Given the description of an element on the screen output the (x, y) to click on. 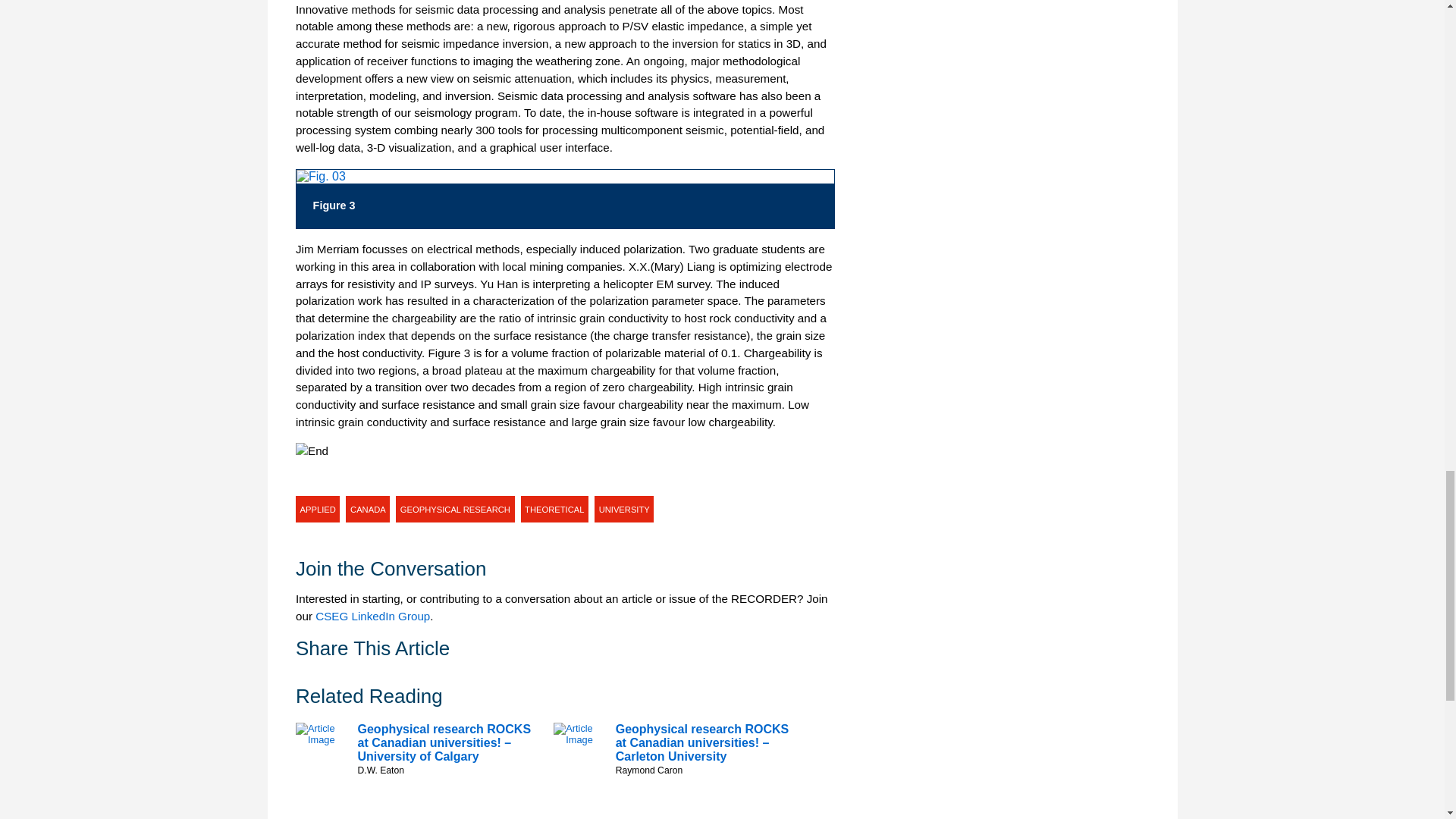
THEORETICAL (555, 509)
CSEG LinkedIn Group (372, 615)
CANADA (368, 509)
UNIVERSITY (623, 509)
GEOPHYSICAL RESEARCH (454, 509)
APPLIED (317, 509)
